Given the description of an element on the screen output the (x, y) to click on. 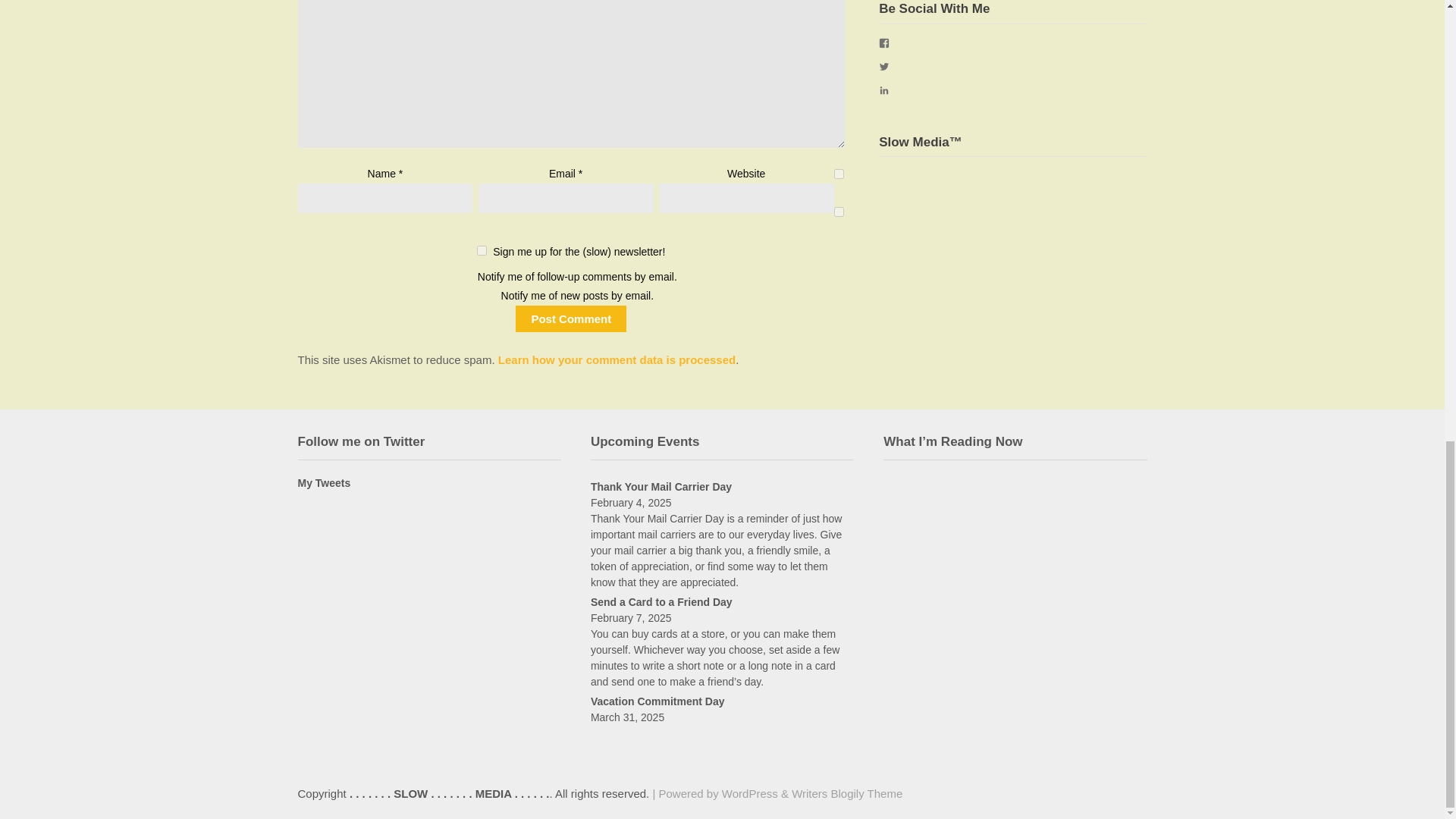
subscribe (839, 173)
Writers Blogily Theme (847, 793)
1 (481, 250)
My Tweets (323, 482)
. . . . . . . SLOW . . . . . . . MEDIA . . . . . . (449, 793)
Post Comment (570, 318)
WordPress (749, 793)
subscribe (839, 212)
Post Comment (570, 318)
Learn how your comment data is processed (616, 359)
